Given the description of an element on the screen output the (x, y) to click on. 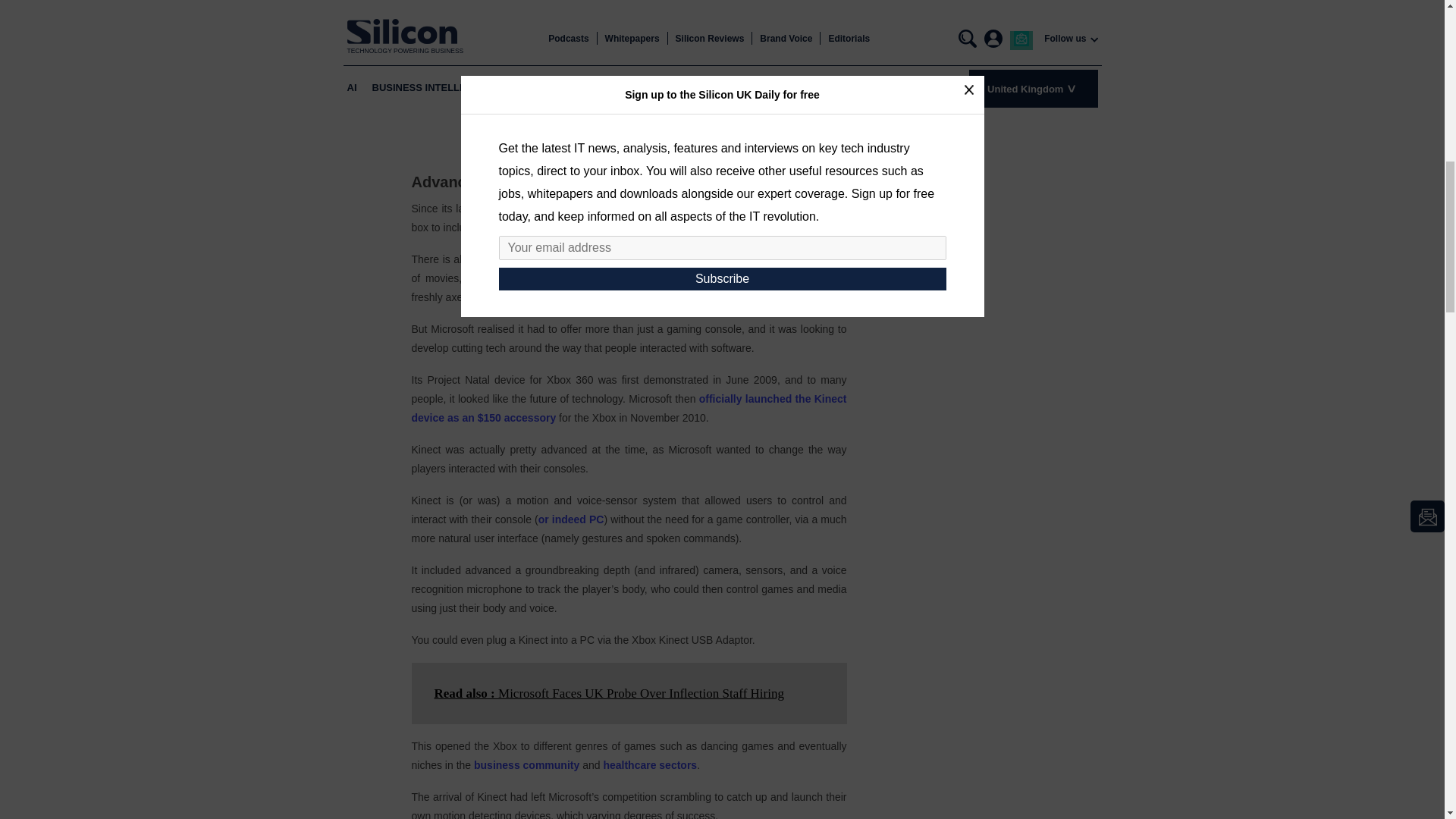
Microsoft Kinect (627, 83)
